Given the description of an element on the screen output the (x, y) to click on. 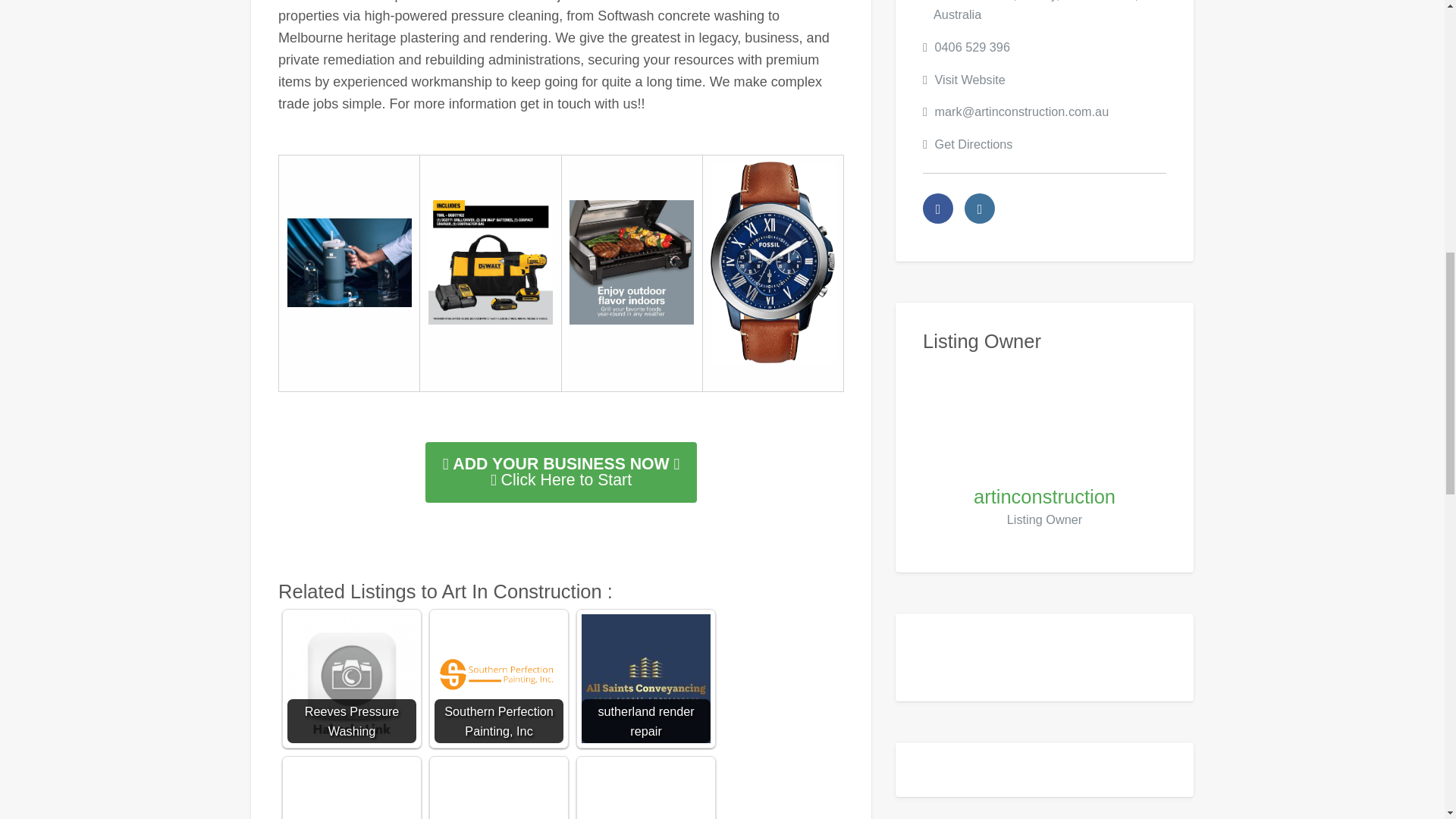
Reeves Pressure Washing (351, 678)
Southern Perfection Painting, Inc (499, 675)
sutherland render repair (645, 678)
